Given the description of an element on the screen output the (x, y) to click on. 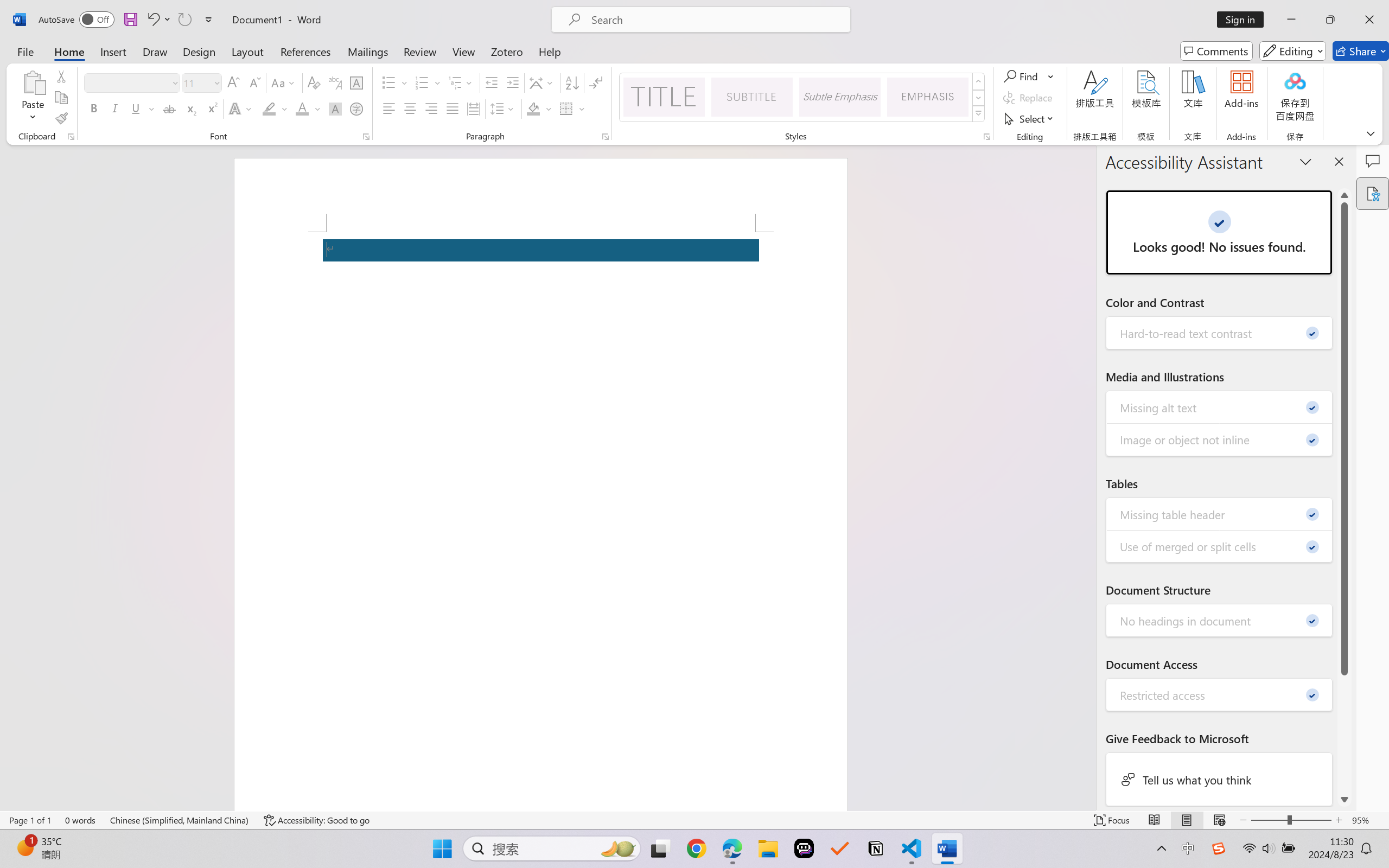
Shading No Color (533, 108)
Missing table header - 0 (1219, 514)
